Given the description of an element on the screen output the (x, y) to click on. 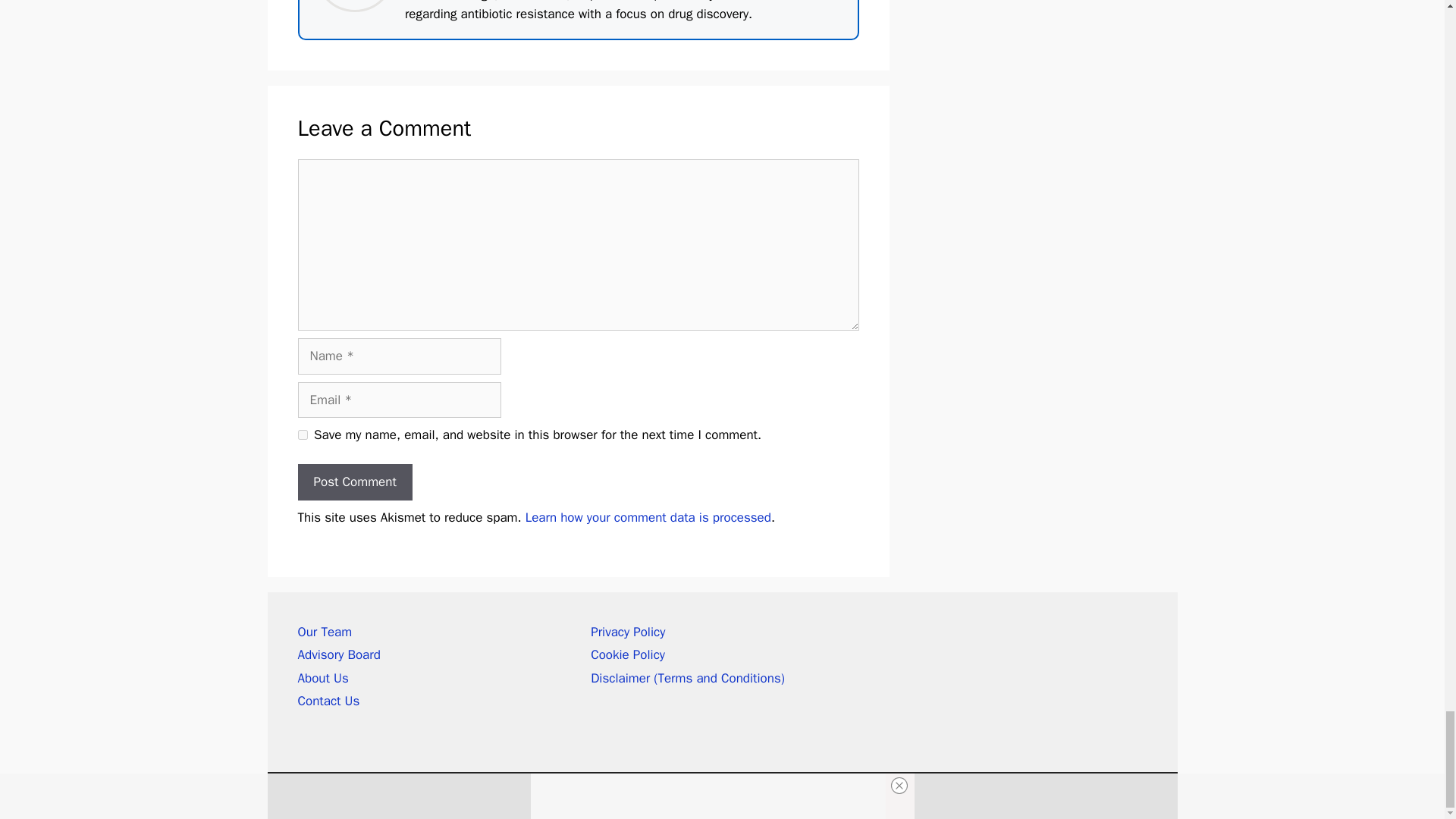
Post Comment (354, 482)
Learn how your comment data is processed (648, 517)
Post Comment (354, 482)
yes (302, 434)
